Given the description of an element on the screen output the (x, y) to click on. 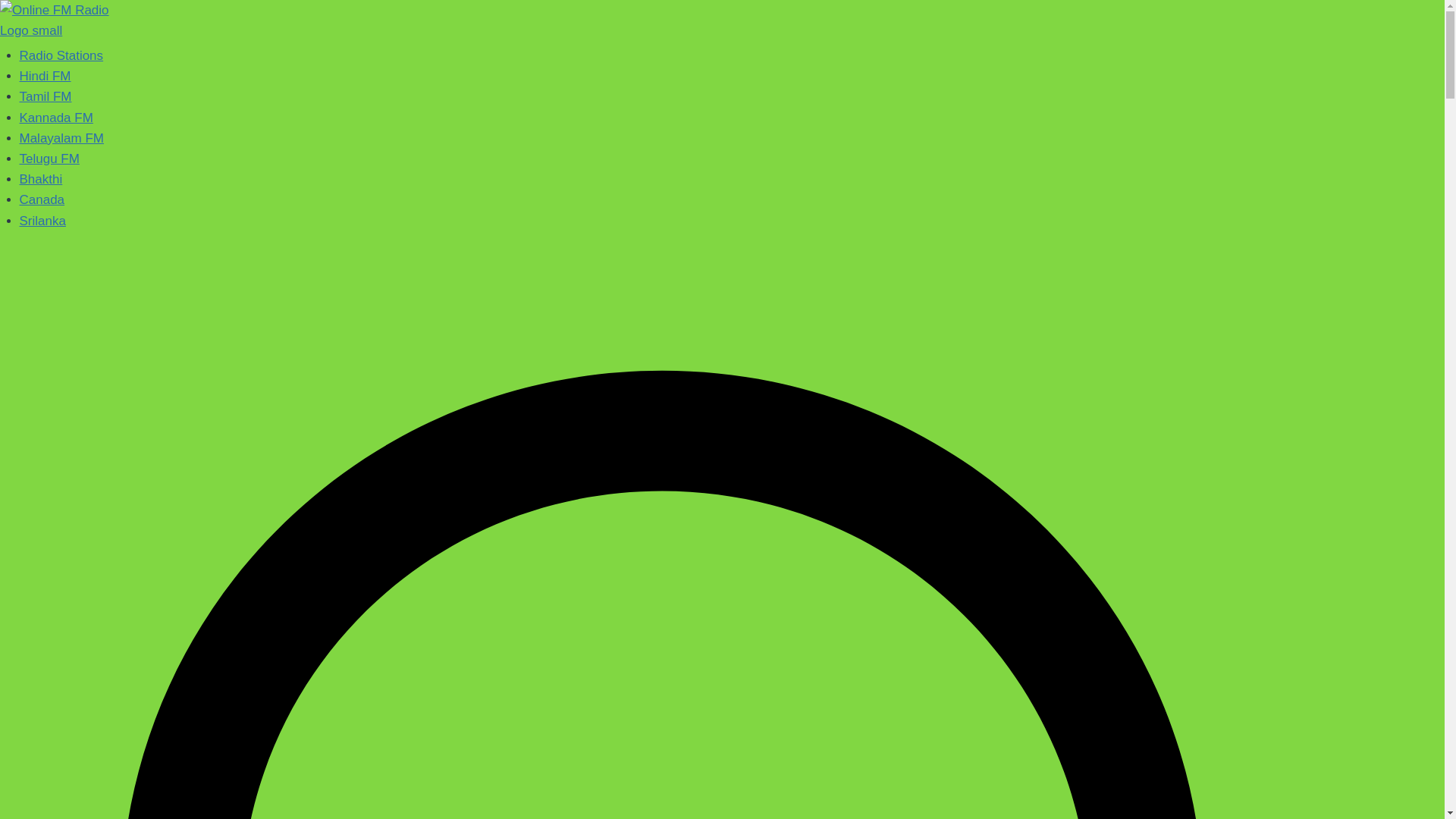
Hindi FM (45, 75)
Malayalam FM (61, 138)
Tamil FM (45, 96)
Canada (42, 199)
Radio Stations (61, 55)
Kannada FM (56, 117)
Telugu FM (50, 158)
Srilanka (42, 220)
Bhakthi (41, 178)
